Given the description of an element on the screen output the (x, y) to click on. 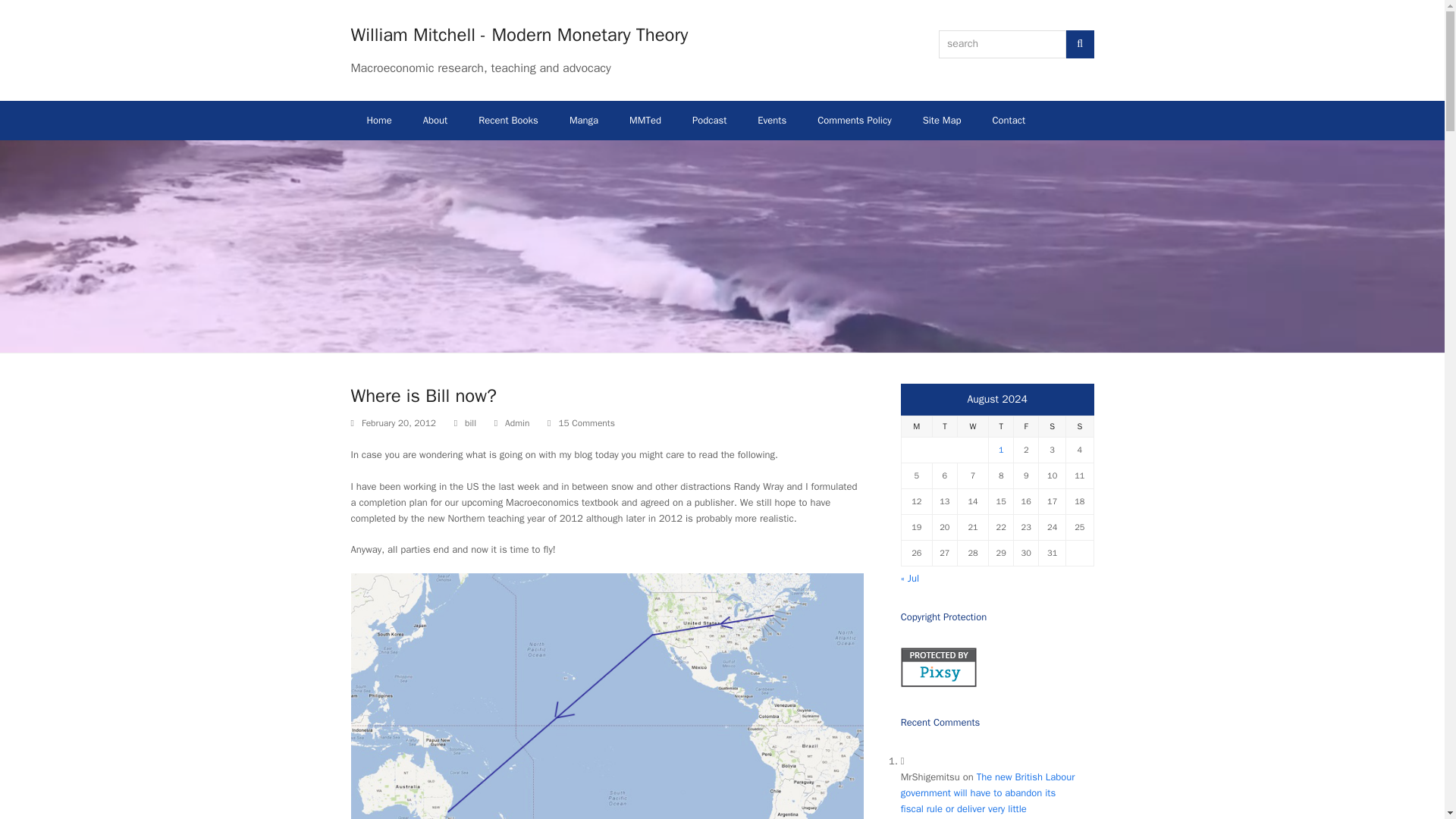
Thursday (1000, 426)
Comments Policy (853, 120)
Site Map (941, 120)
William Mitchell - Modern Monetary Theory (518, 34)
Recent Books (508, 120)
Monday (916, 426)
Sunday (1079, 426)
Friday (1026, 426)
Contact (1008, 120)
About (435, 120)
Posts by bill (470, 422)
bill (470, 422)
Tuesday (943, 426)
Saturday (1052, 426)
MMTed (645, 120)
